Given the description of an element on the screen output the (x, y) to click on. 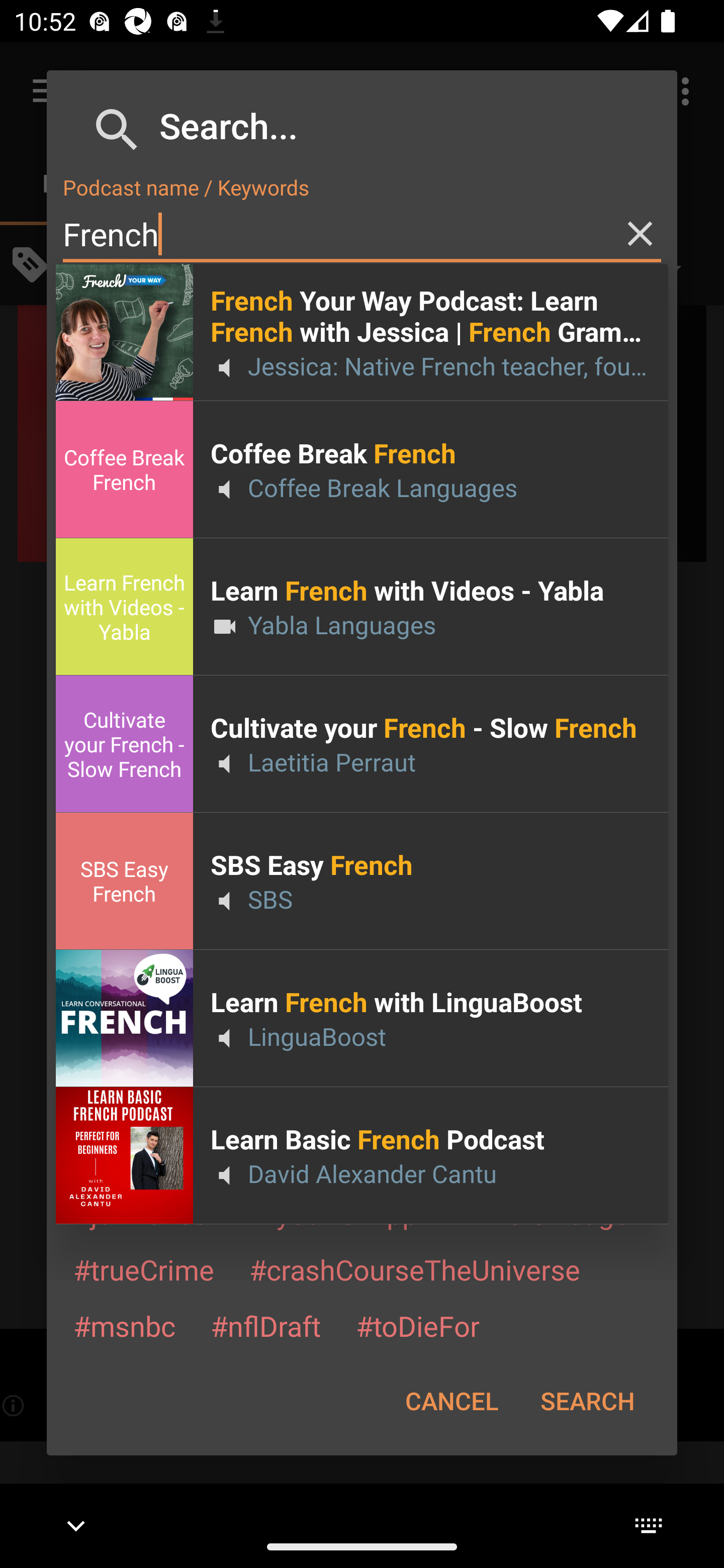
French (361, 234)
#trueCrime (143, 1268)
#crashCourseTheUniverse (414, 1268)
#msnbc (124, 1325)
#nflDraft (265, 1325)
#toDieFor (417, 1325)
CANCEL (451, 1400)
SEARCH (587, 1400)
